Given the description of an element on the screen output the (x, y) to click on. 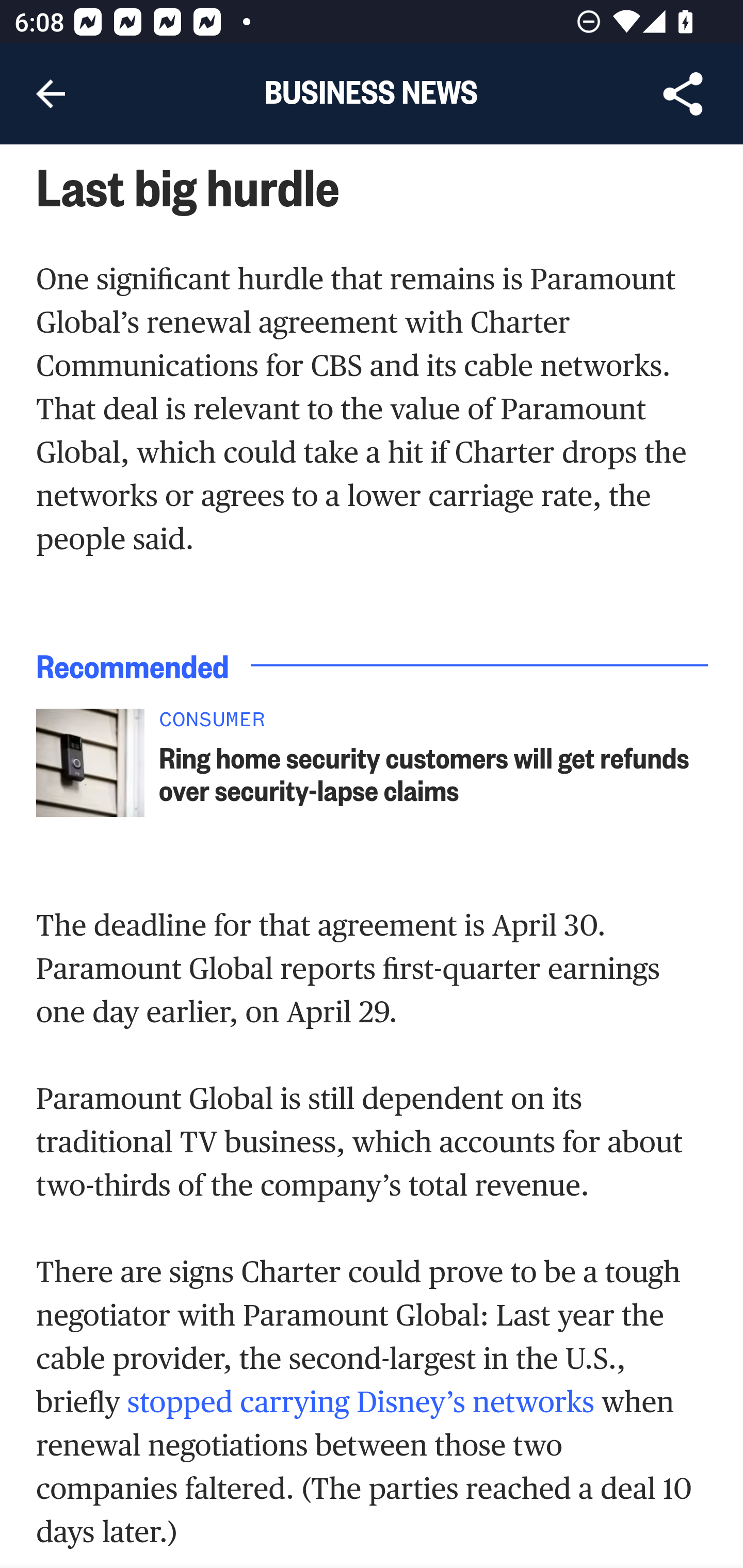
Navigate up (50, 93)
Share Article, button (683, 94)
CONSUMER (434, 725)
stopped carrying Disney’s networks (360, 1402)
